Given the description of an element on the screen output the (x, y) to click on. 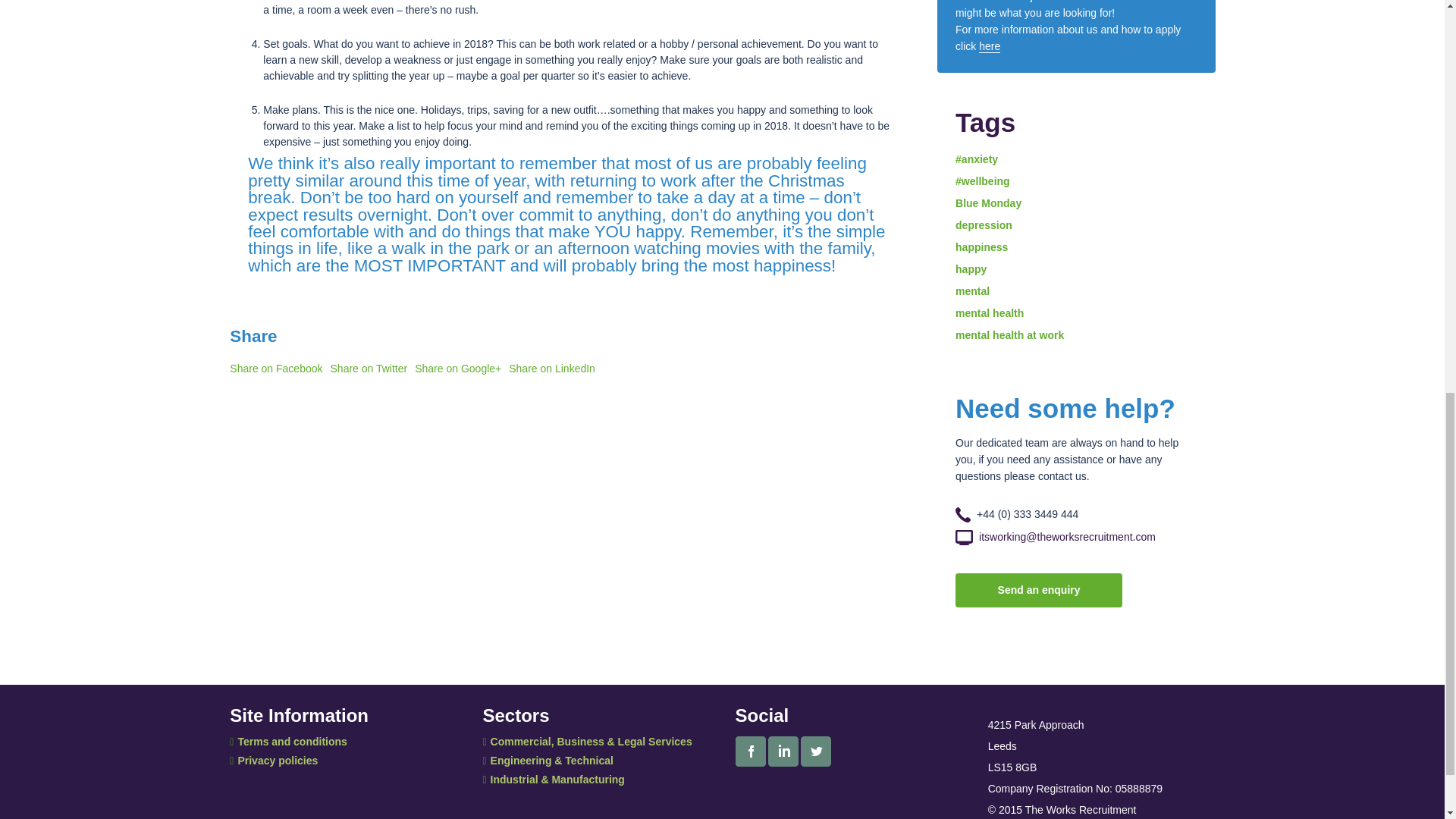
mental health at work (1009, 335)
here (989, 46)
Send an enquiry (1038, 590)
Share on Twitter (368, 368)
depression (983, 224)
Terms and conditions (288, 741)
mental (972, 291)
happiness (981, 246)
Blue Monday (988, 203)
happy (971, 268)
mental health (989, 313)
Share on LinkedIn (551, 368)
Share on Facebook (275, 368)
